Given the description of an element on the screen output the (x, y) to click on. 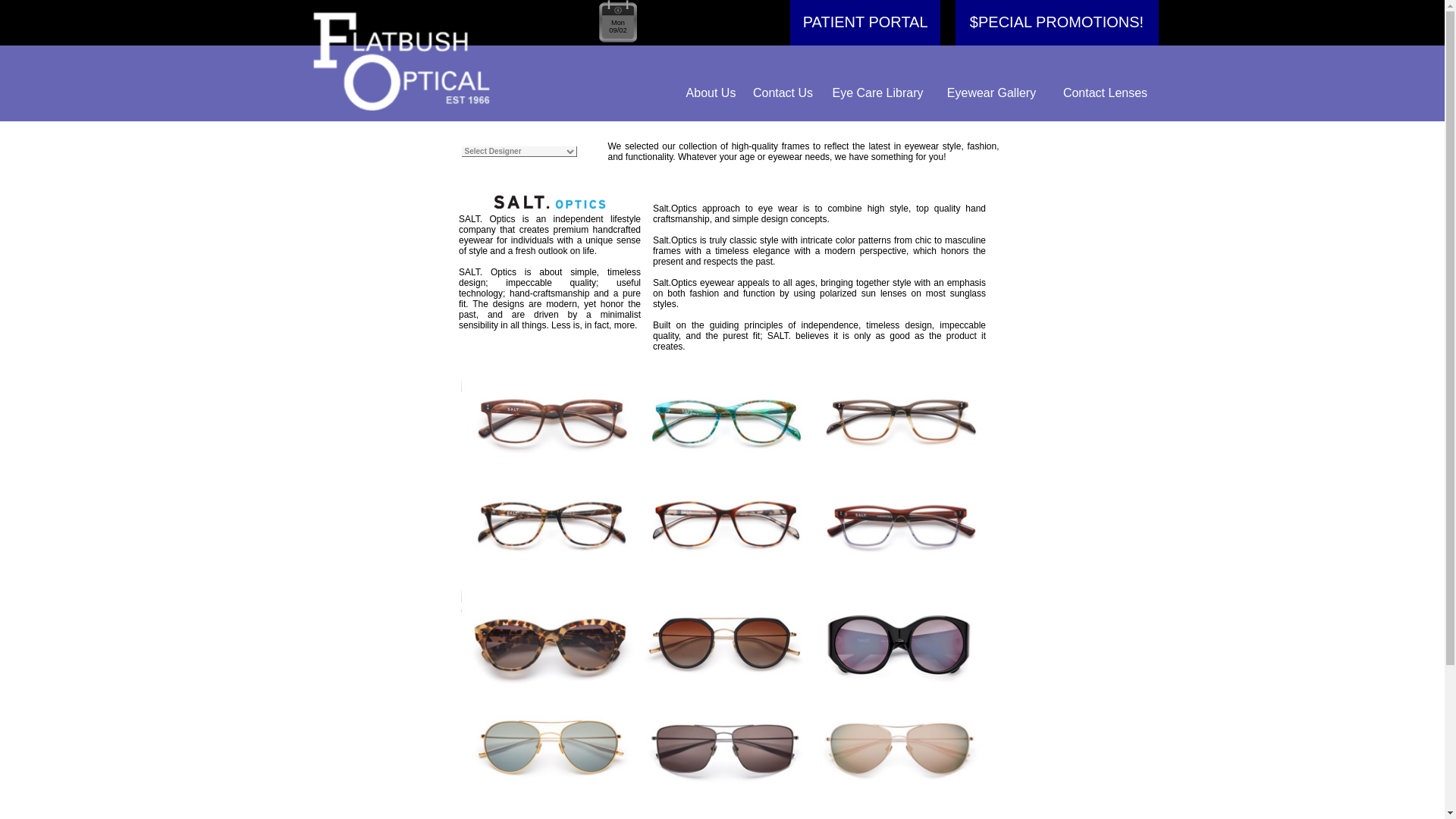
Contact Us (782, 92)
   PATIENT PORTAL    (864, 22)
Eye Care Library (877, 92)
About Us (710, 92)
